Given the description of an element on the screen output the (x, y) to click on. 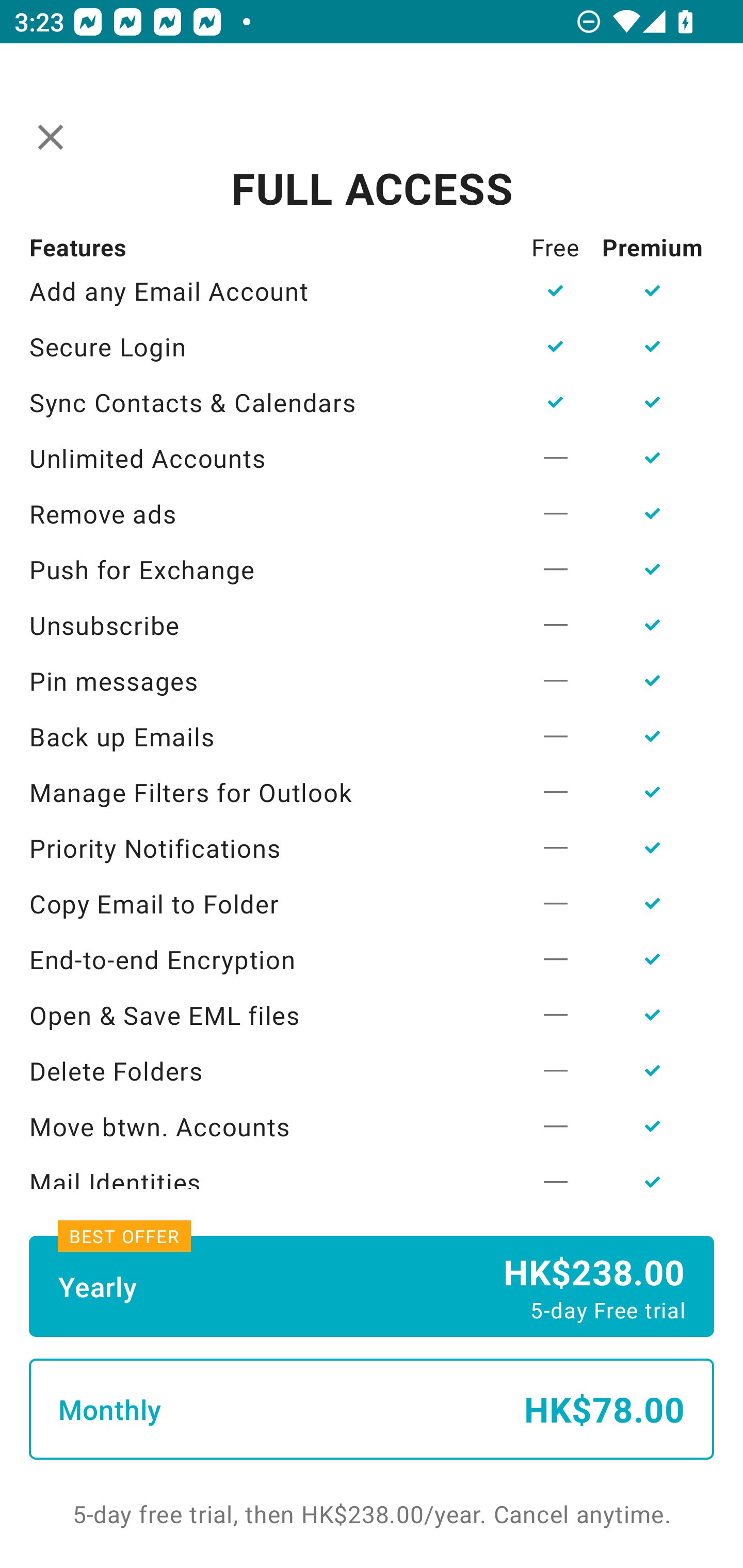
Yearly HK$238.00 5-day Free trial (371, 1286)
Monthly HK$78.00 (371, 1408)
